Given the description of an element on the screen output the (x, y) to click on. 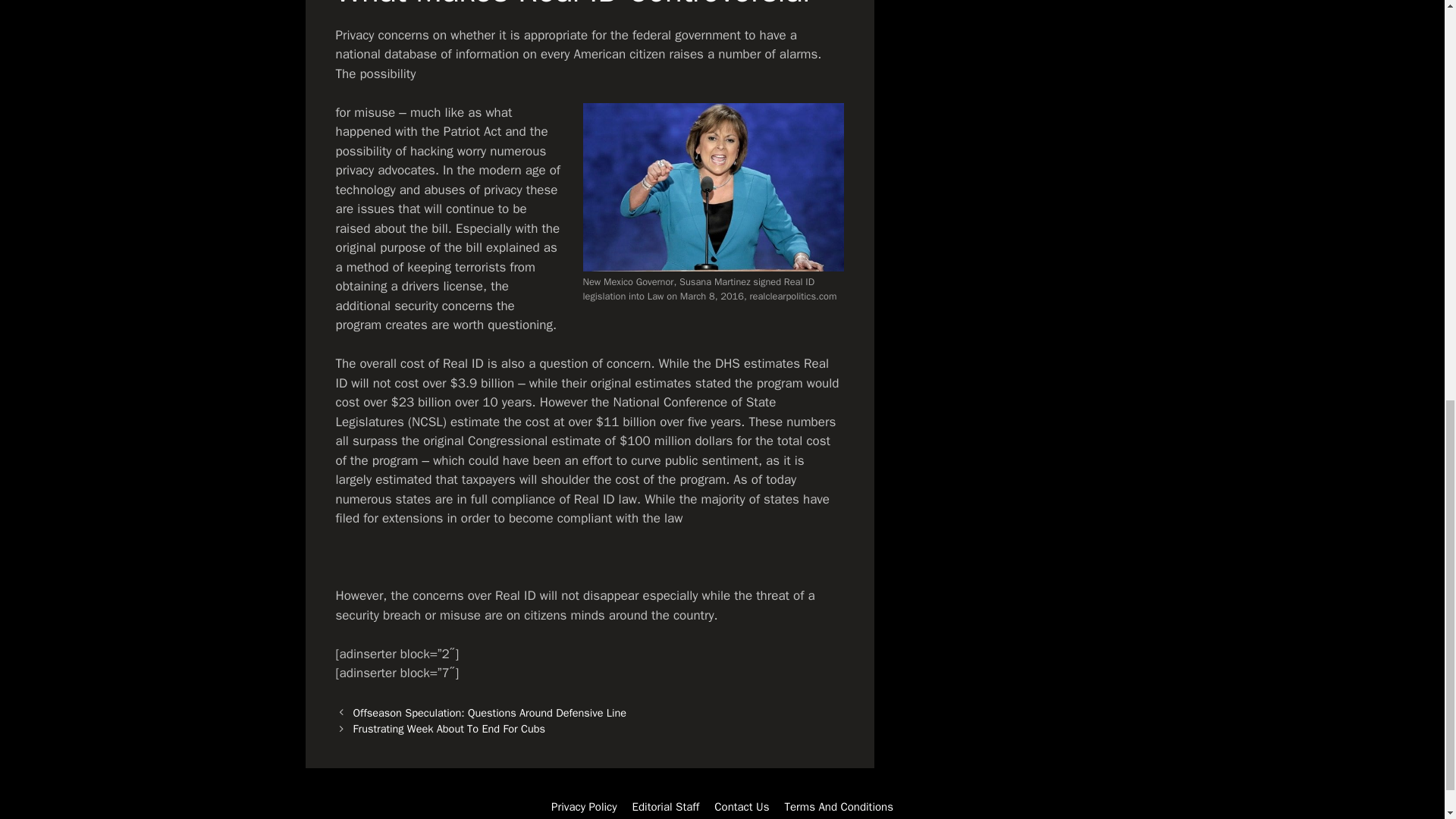
Terms And Conditions (838, 807)
Contact Us (741, 807)
Offseason Speculation: Questions Around Defensive Line (489, 712)
Editorial Staff (665, 807)
Frustrating Week About To End For Cubs (448, 728)
Privacy Policy (584, 807)
